Given the description of an element on the screen output the (x, y) to click on. 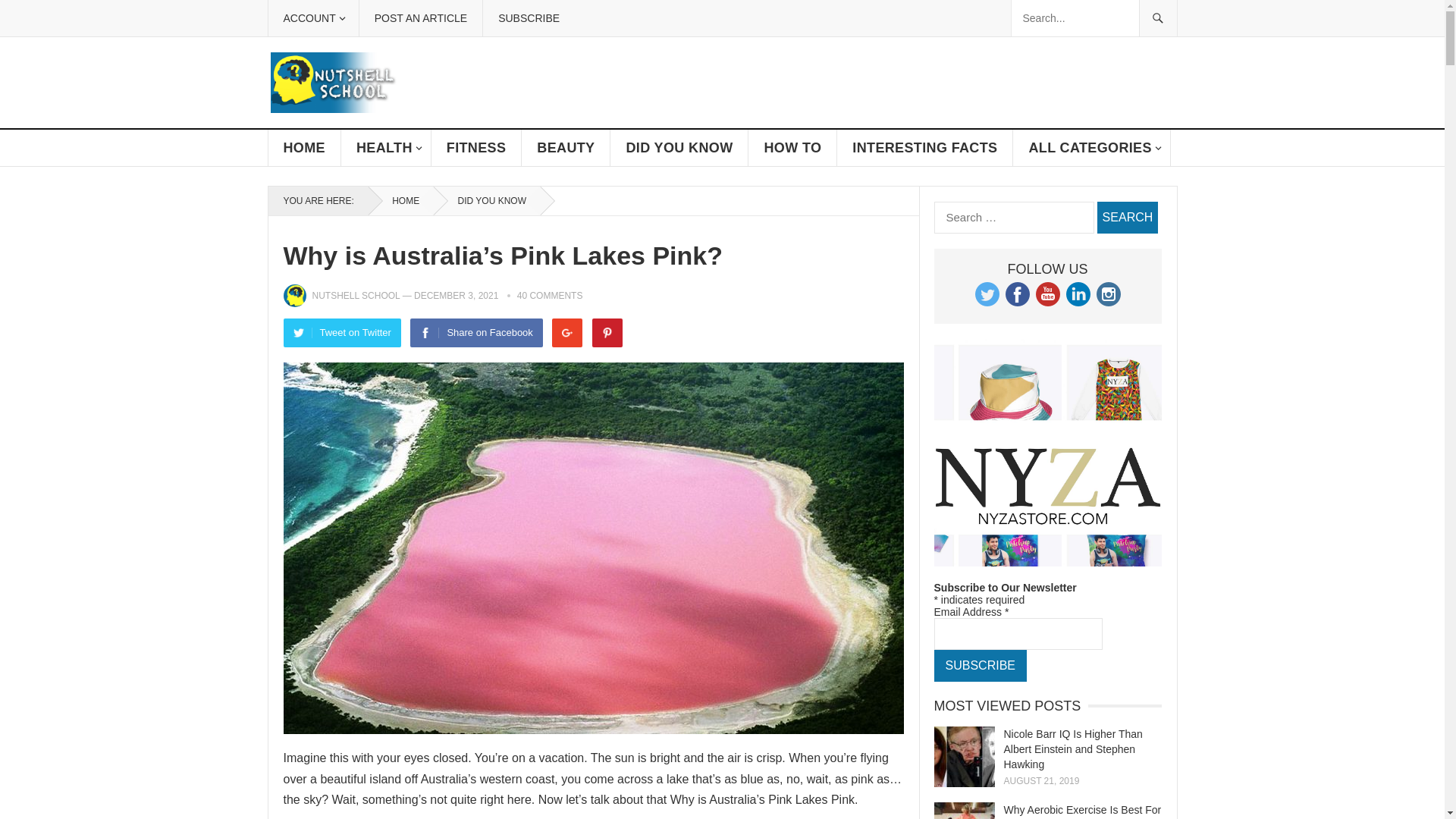
HEALTH (385, 147)
Search (1127, 217)
SUBSCRIBE (528, 18)
INTERESTING FACTS (925, 147)
ACCOUNT (312, 18)
Posts by Nutshell School (356, 295)
ALL CATEGORIES (1091, 147)
DID YOU KNOW (679, 147)
DID YOU KNOW (486, 200)
HOME (303, 147)
Search (1127, 217)
HOW TO (792, 147)
FITNESS (476, 147)
HOME (400, 200)
POST AN ARTICLE (419, 18)
